Given the description of an element on the screen output the (x, y) to click on. 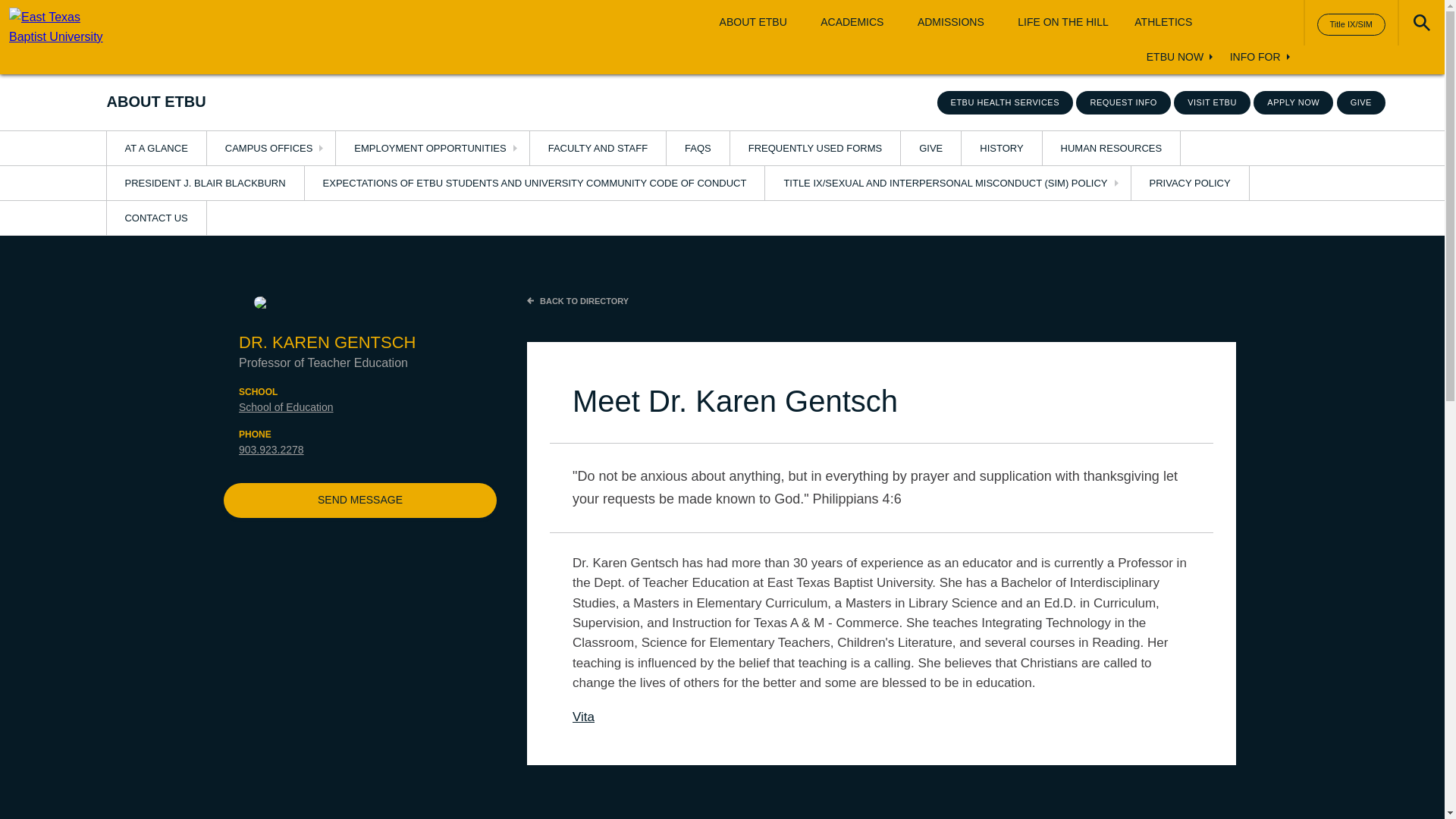
ACADEMICS (851, 22)
ETBU Health Services (1005, 102)
AT A GLANCE (155, 148)
ATHLETICS (1162, 22)
ABOUT ETBU (752, 22)
CAMPUS OFFICES (271, 148)
ETBU NOW (1174, 57)
REQUEST INFO (1122, 102)
ETBU HEALTH SERVICES (1005, 102)
APPLY NOW (1293, 102)
